Given the description of an element on the screen output the (x, y) to click on. 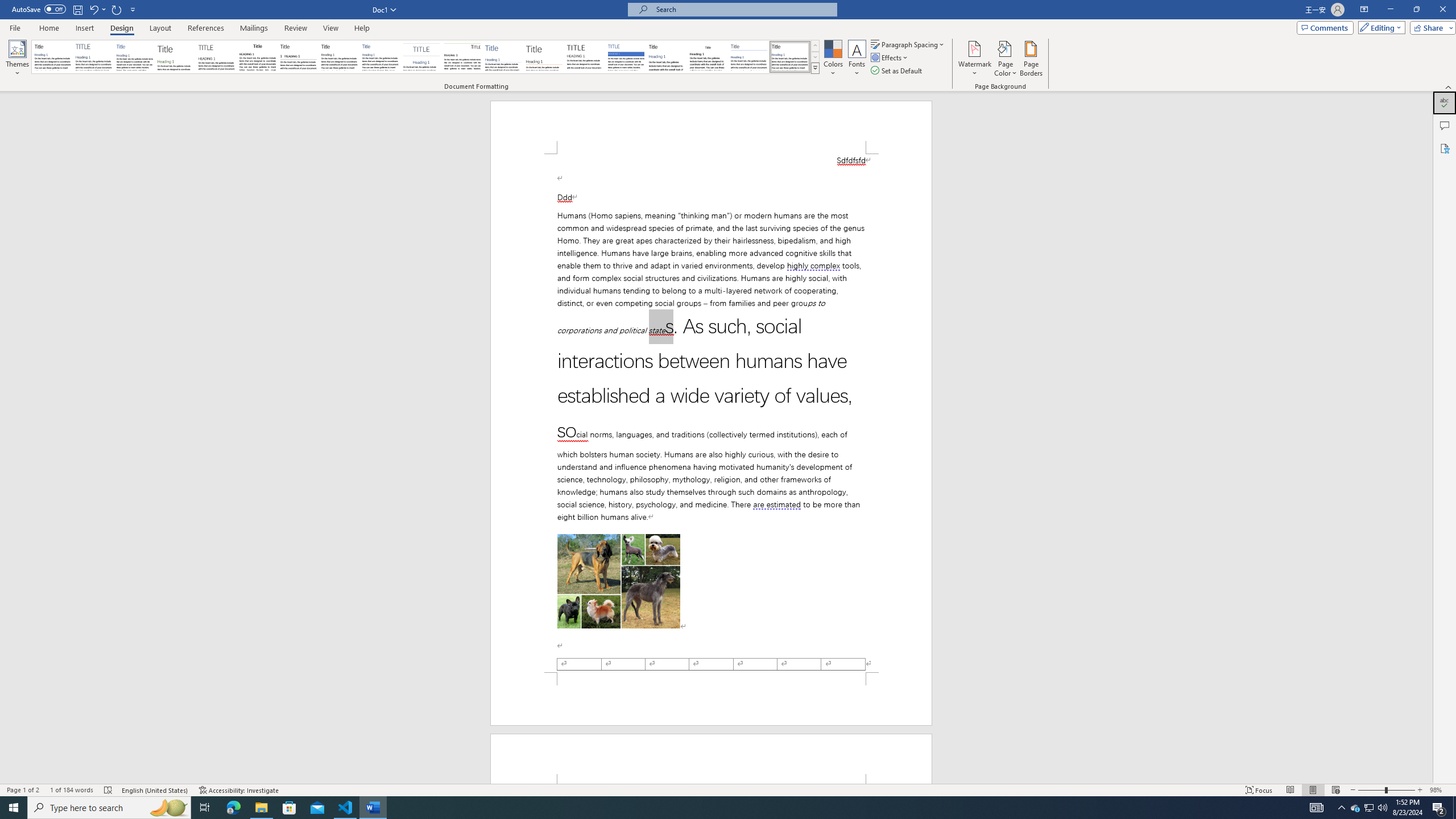
Undo Apply Quick Style Set (92, 9)
Casual (379, 56)
Word (666, 56)
Page Color (1005, 58)
Centered (421, 56)
Black & White (Classic) (257, 56)
Shaded (625, 56)
Basic (Simple) (135, 56)
Word 2010 (749, 56)
